Given the description of an element on the screen output the (x, y) to click on. 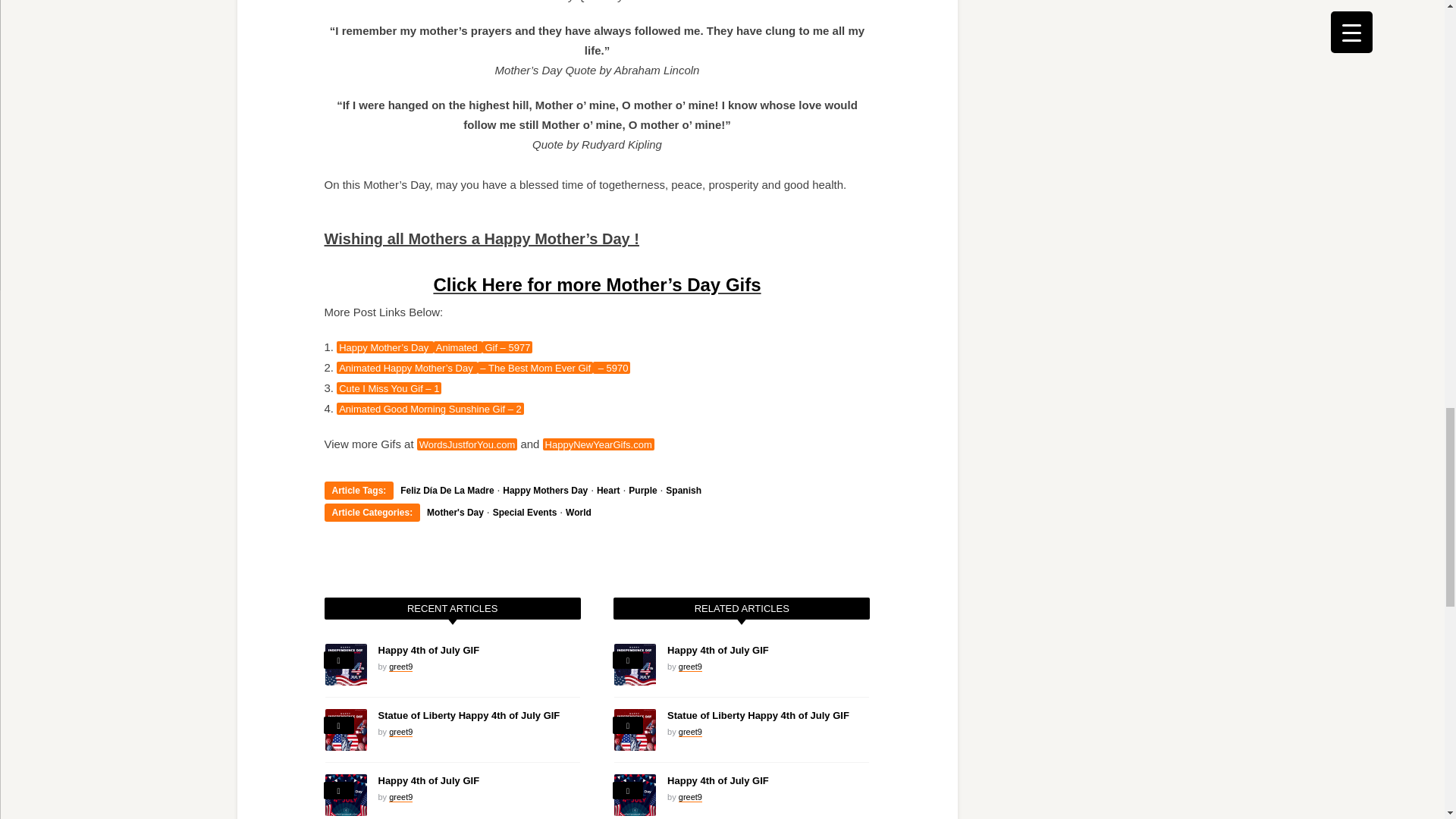
Happy 4th of July GIF 4 (345, 664)
HappyNewYearGifs.com (598, 444)
WordsJustforYou.com (466, 444)
Posts by greet9 (400, 732)
Happy Mothers Day (545, 490)
Statue of Liberty Happy 4th of July GIF 5 (345, 730)
Posts by greet9 (400, 797)
Posts by greet9 (400, 666)
Animated (458, 346)
Happy 4th of July GIF 6 (345, 794)
